Given the description of an element on the screen output the (x, y) to click on. 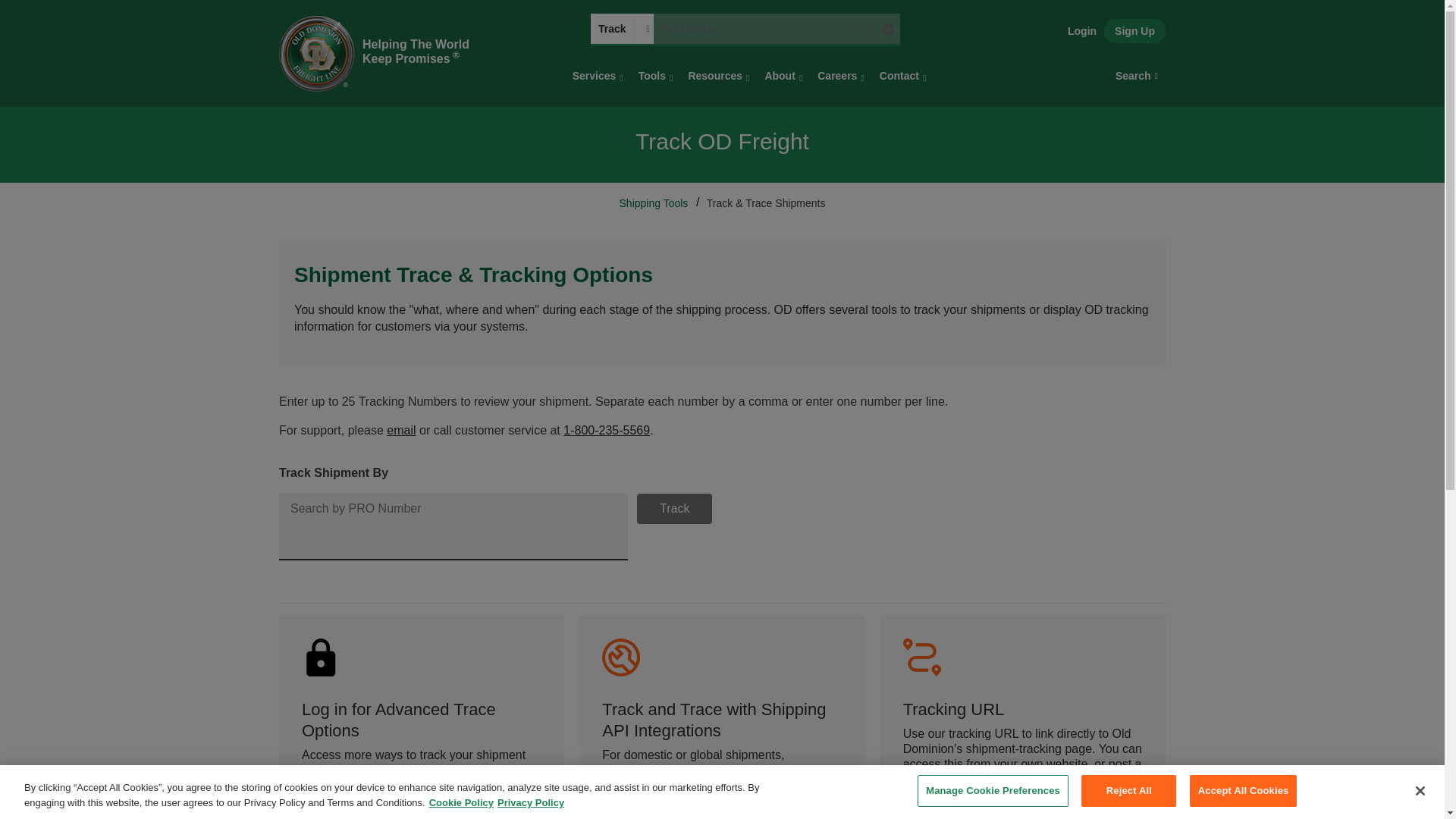
Resources (718, 76)
About (783, 76)
ODFL (317, 52)
Tools (655, 76)
Services (597, 76)
